Given the description of an element on the screen output the (x, y) to click on. 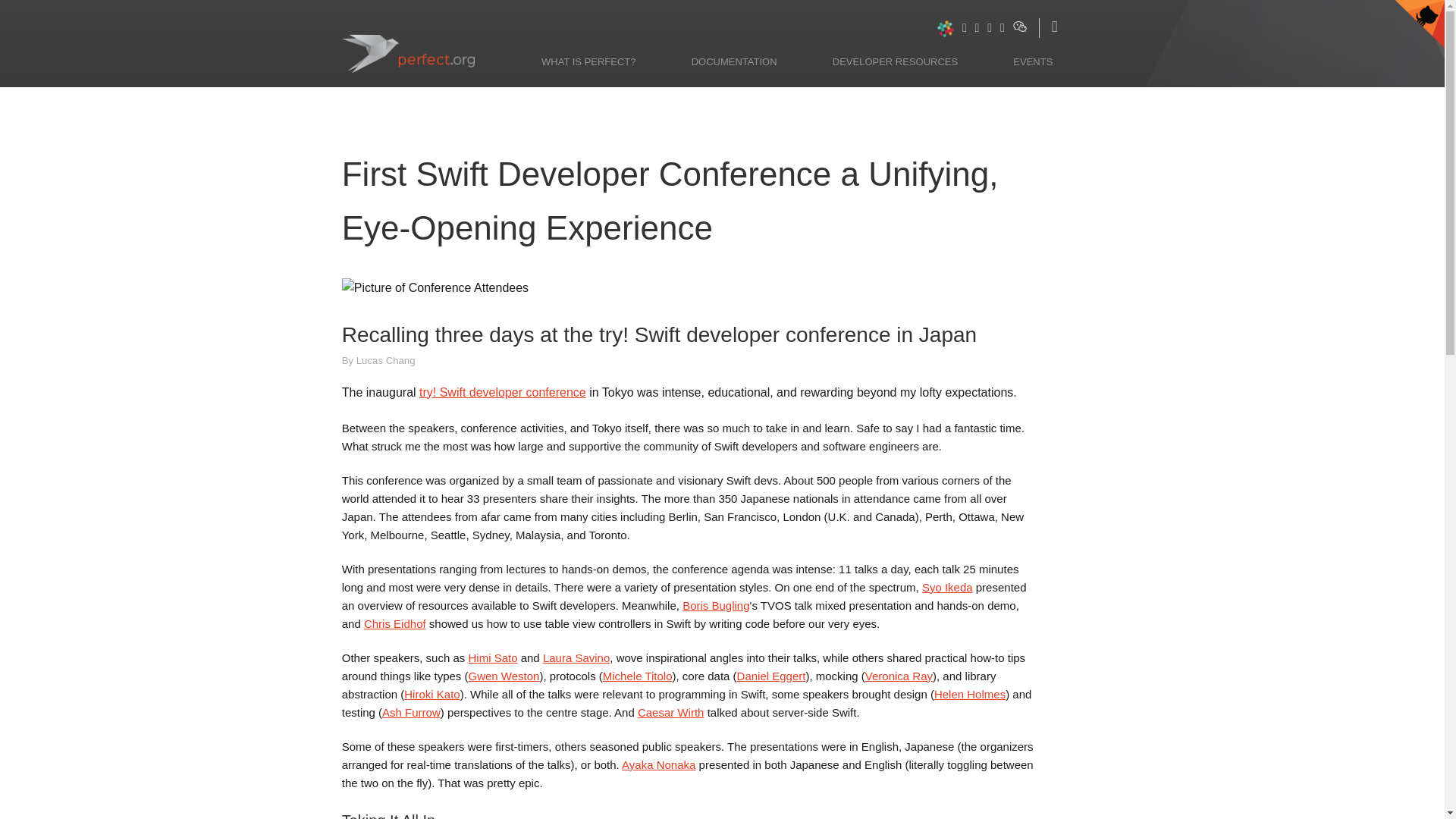
try! Swift developer conference (502, 391)
WHAT IS PERFECT? (588, 62)
Laura Savino (576, 657)
Gwen Weston (504, 675)
Boris Bugling (715, 604)
Perfect is a framework for Server Side Swift (588, 62)
One language to rule them all, Server Side Swift by Perfect (431, 42)
Syo Ikeda (946, 586)
Scan the WeChat QR code on the support page (1019, 26)
EVENTS (1032, 62)
Chris Eidhof (395, 623)
Himi Sato (491, 657)
Join the Perfect community on Slack (945, 27)
